Given the description of an element on the screen output the (x, y) to click on. 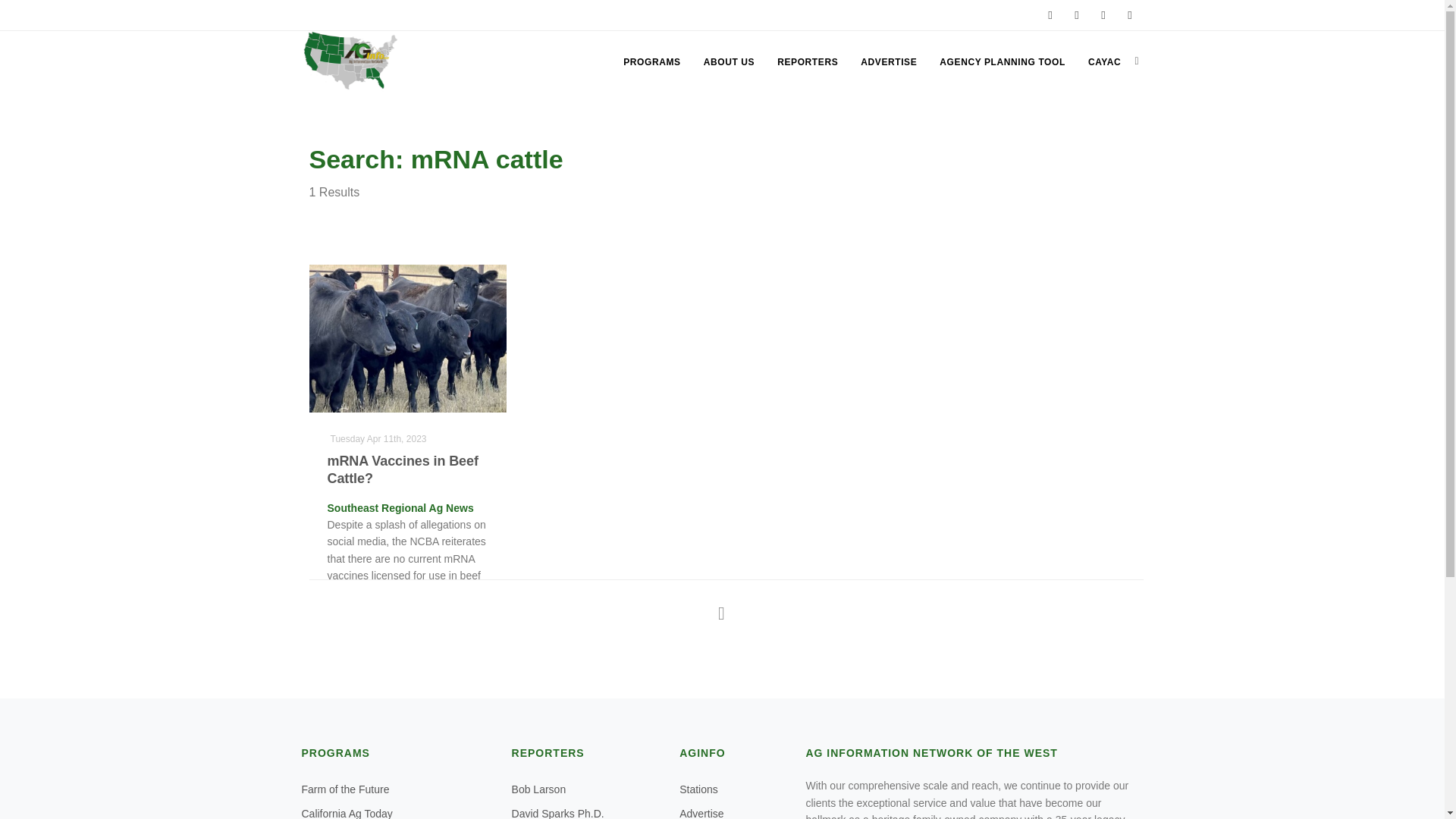
PROGRAMS (651, 62)
ABOUT US (728, 62)
